Given the description of an element on the screen output the (x, y) to click on. 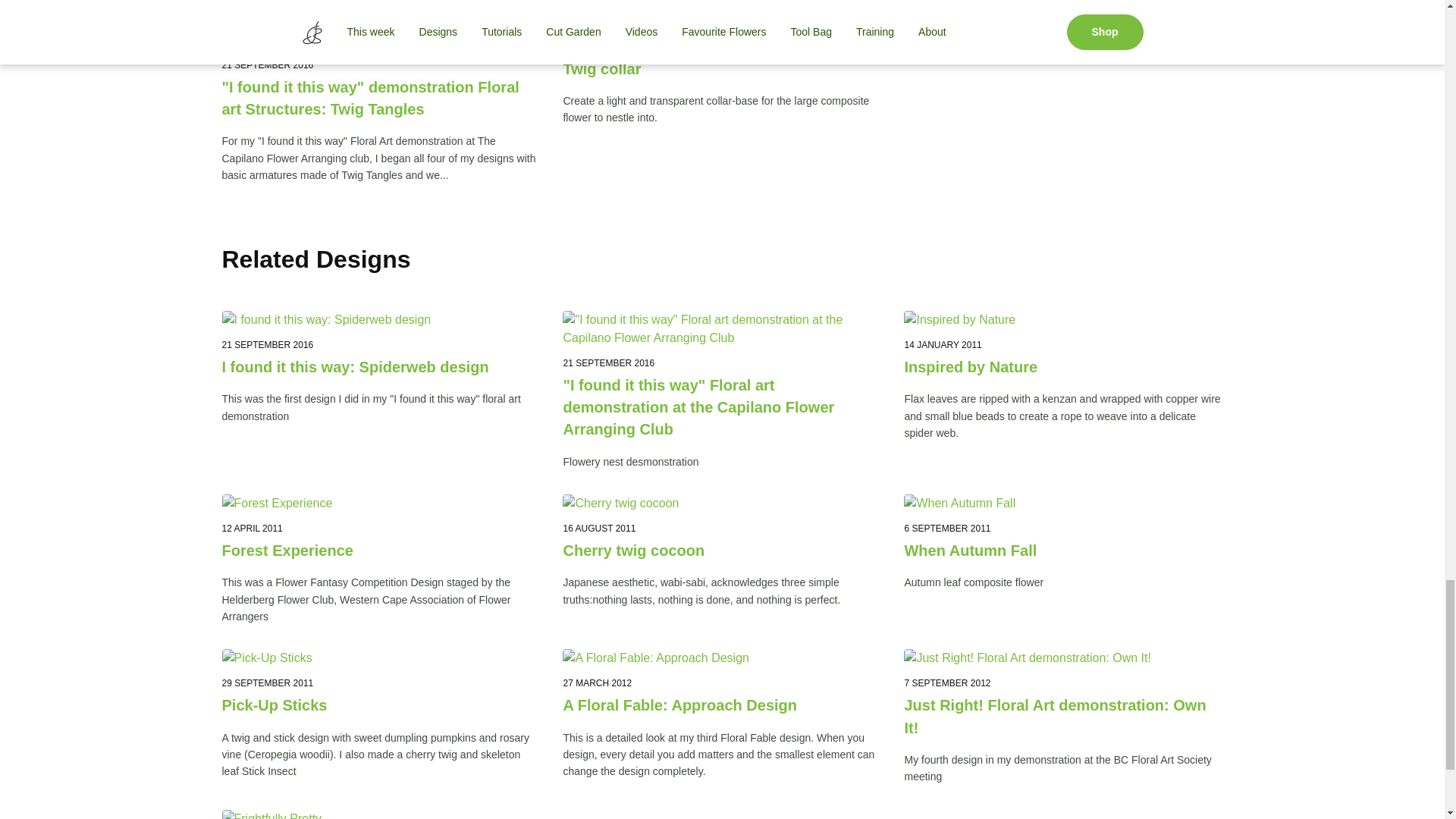
I found it this way: Spiderweb design (380, 320)
Forest Experience (380, 550)
Inspired by Nature (1063, 367)
Twig collar (721, 69)
Pick-Up Sticks (380, 705)
I found it this way: Spiderweb design (380, 367)
